Given the description of an element on the screen output the (x, y) to click on. 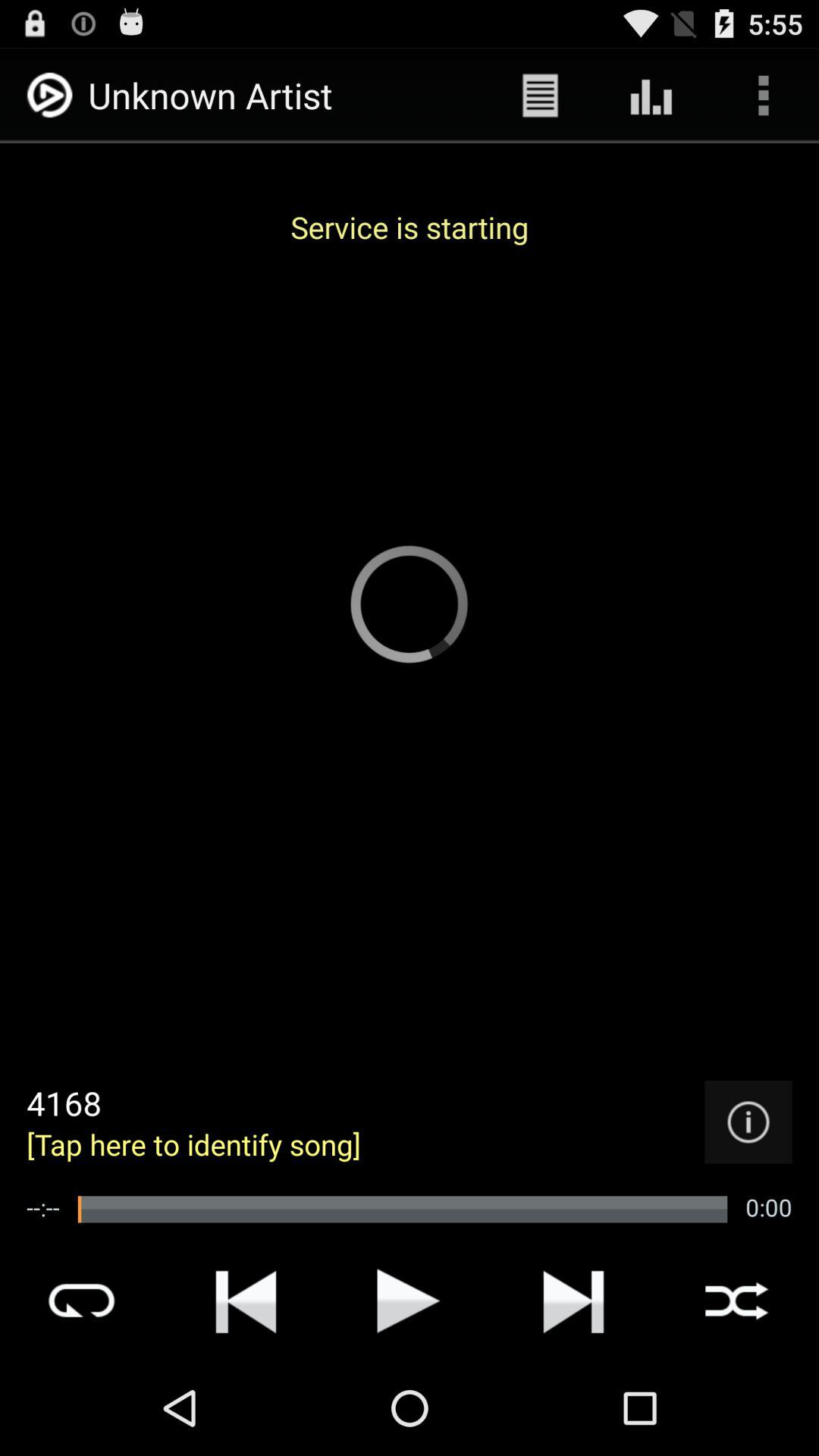
the icon represented to goto the next song or music in the playlist (573, 1300)
